Given the description of an element on the screen output the (x, y) to click on. 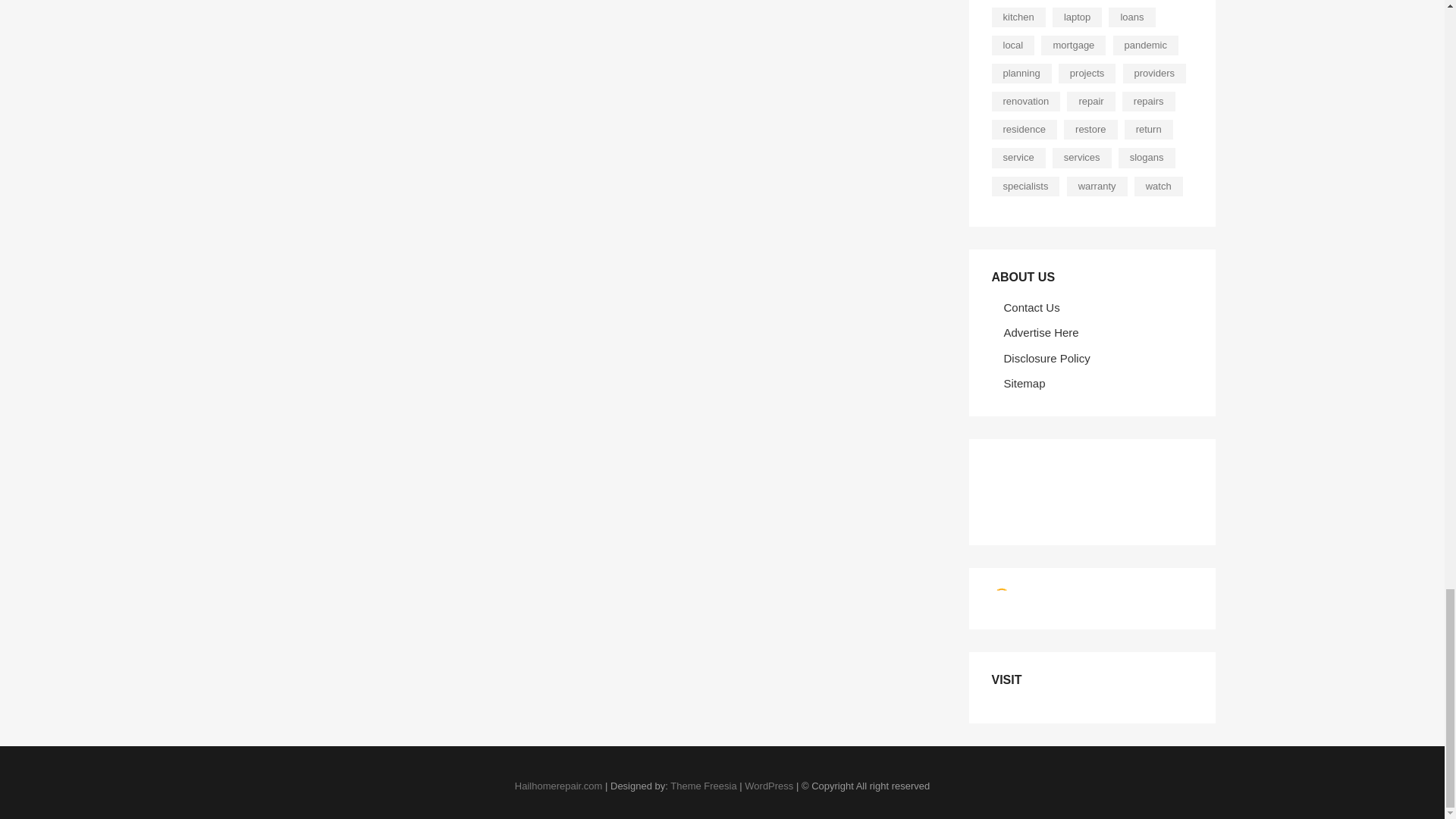
WordPress (768, 785)
Hailhomerepair.com (558, 785)
Theme Freesia (702, 785)
Seedbacklink (1001, 596)
